Given the description of an element on the screen output the (x, y) to click on. 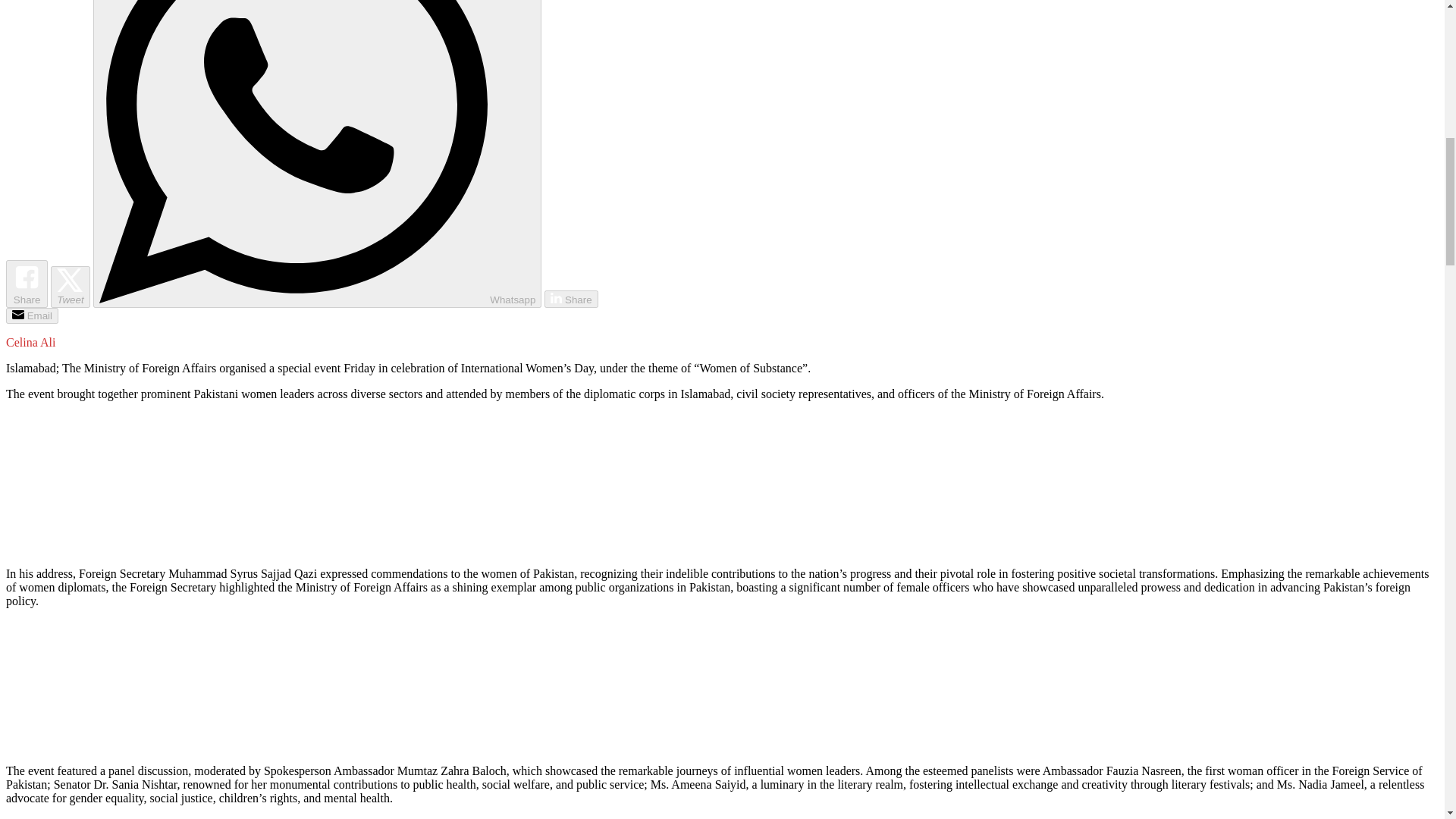
Tweet (69, 286)
Share (570, 298)
Email (31, 315)
